Given the description of an element on the screen output the (x, y) to click on. 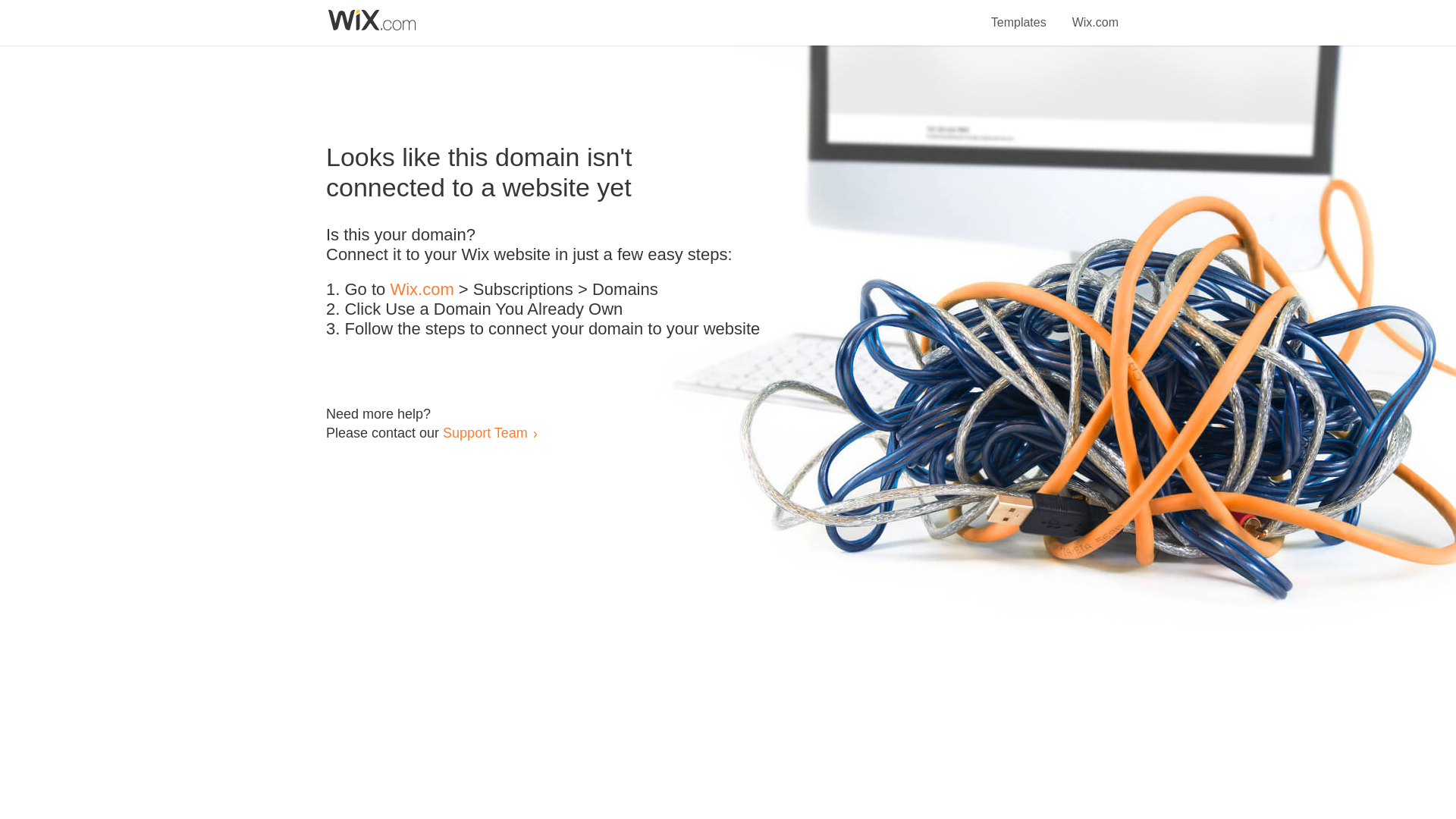
Support Team (484, 432)
Templates (1018, 14)
Wix.com (1095, 14)
Wix.com (421, 289)
